Given the description of an element on the screen output the (x, y) to click on. 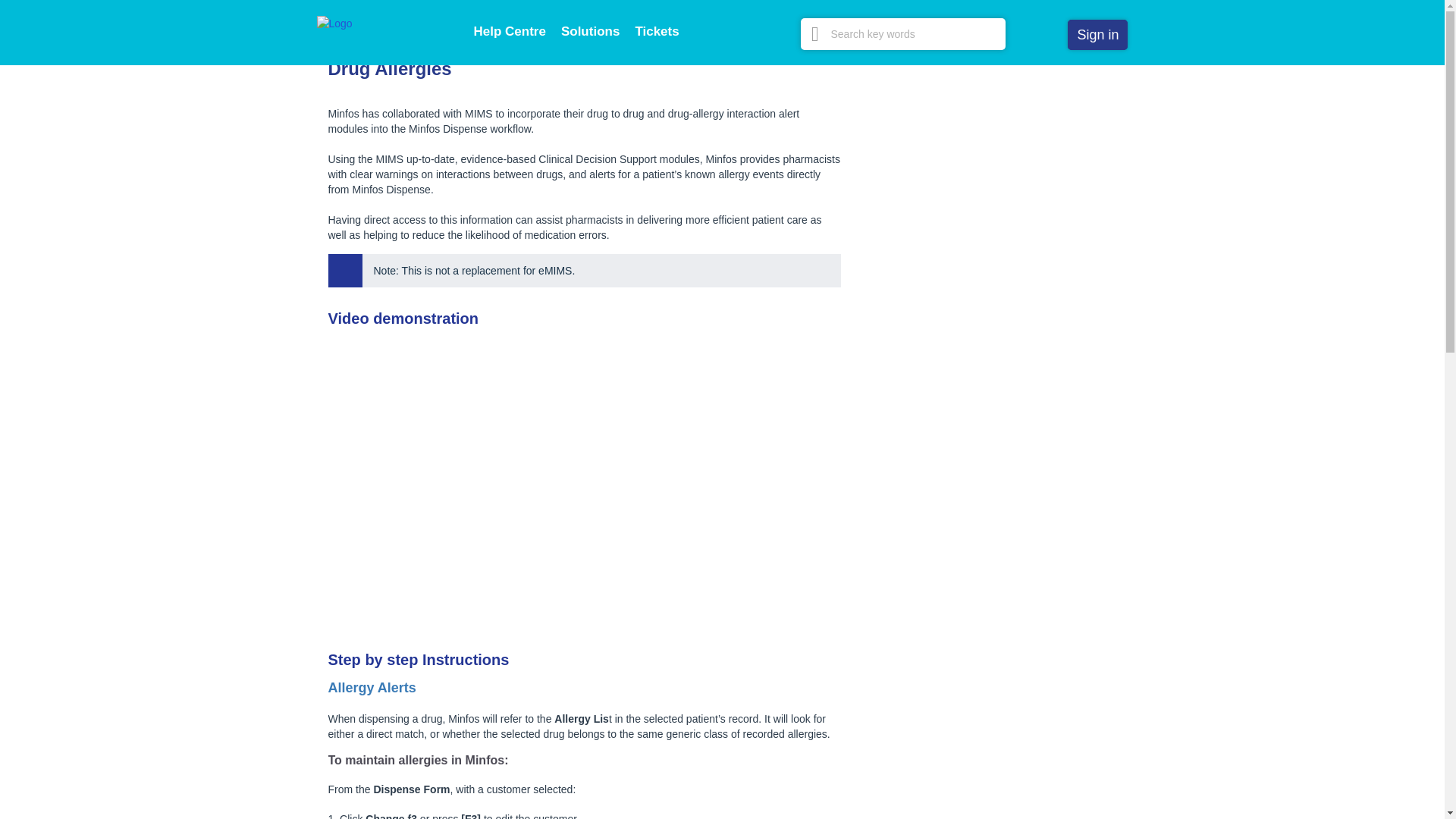
Solutions (590, 31)
Help Centre (508, 31)
Clinical (516, 22)
Print this Article (825, 69)
Sign in (1096, 34)
Drug Allergies (581, 22)
Help Centre (345, 22)
Dispense (464, 22)
Tickets (656, 31)
